Given the description of an element on the screen output the (x, y) to click on. 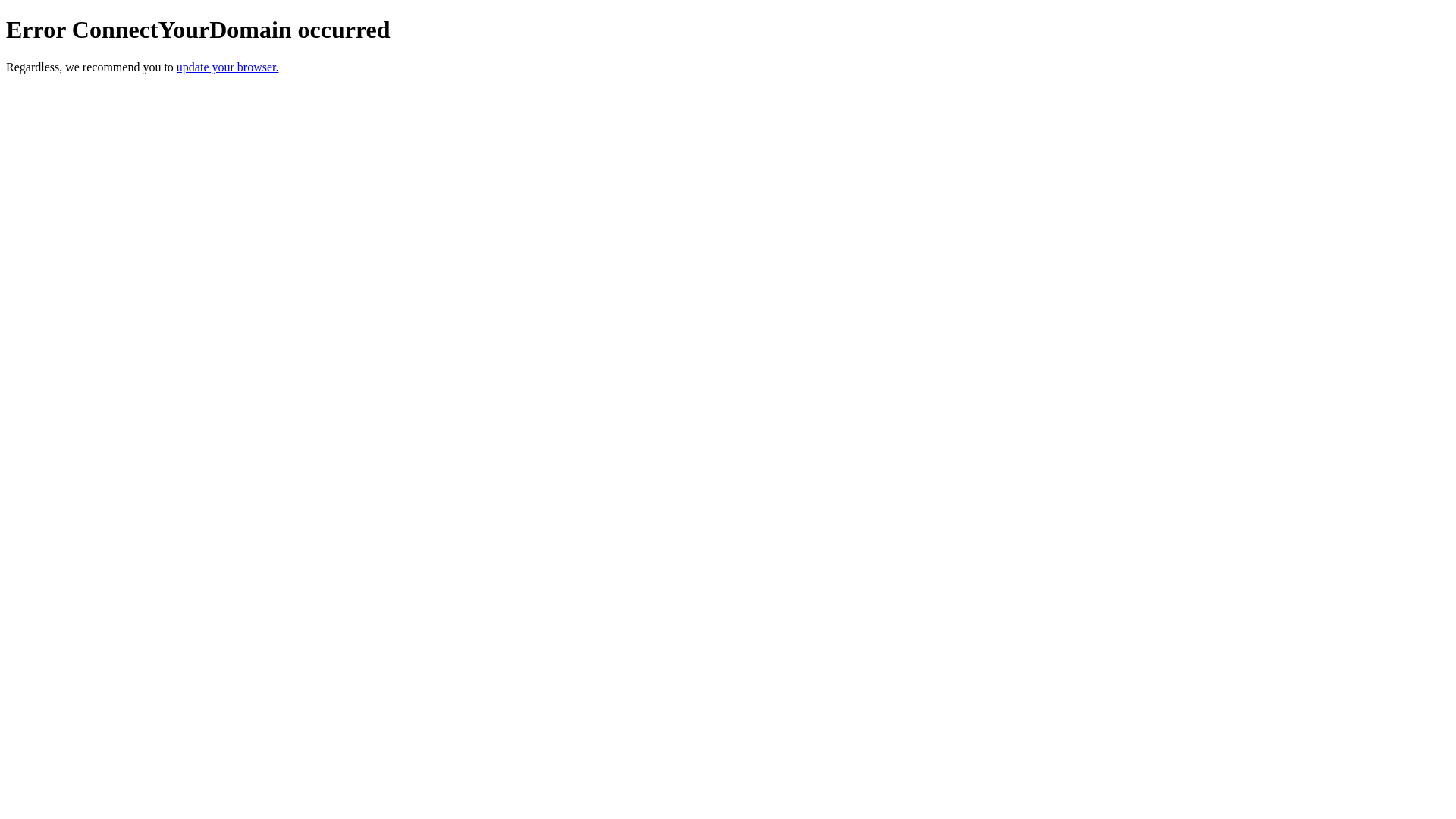
update your browser. Element type: text (227, 66)
